Given the description of an element on the screen output the (x, y) to click on. 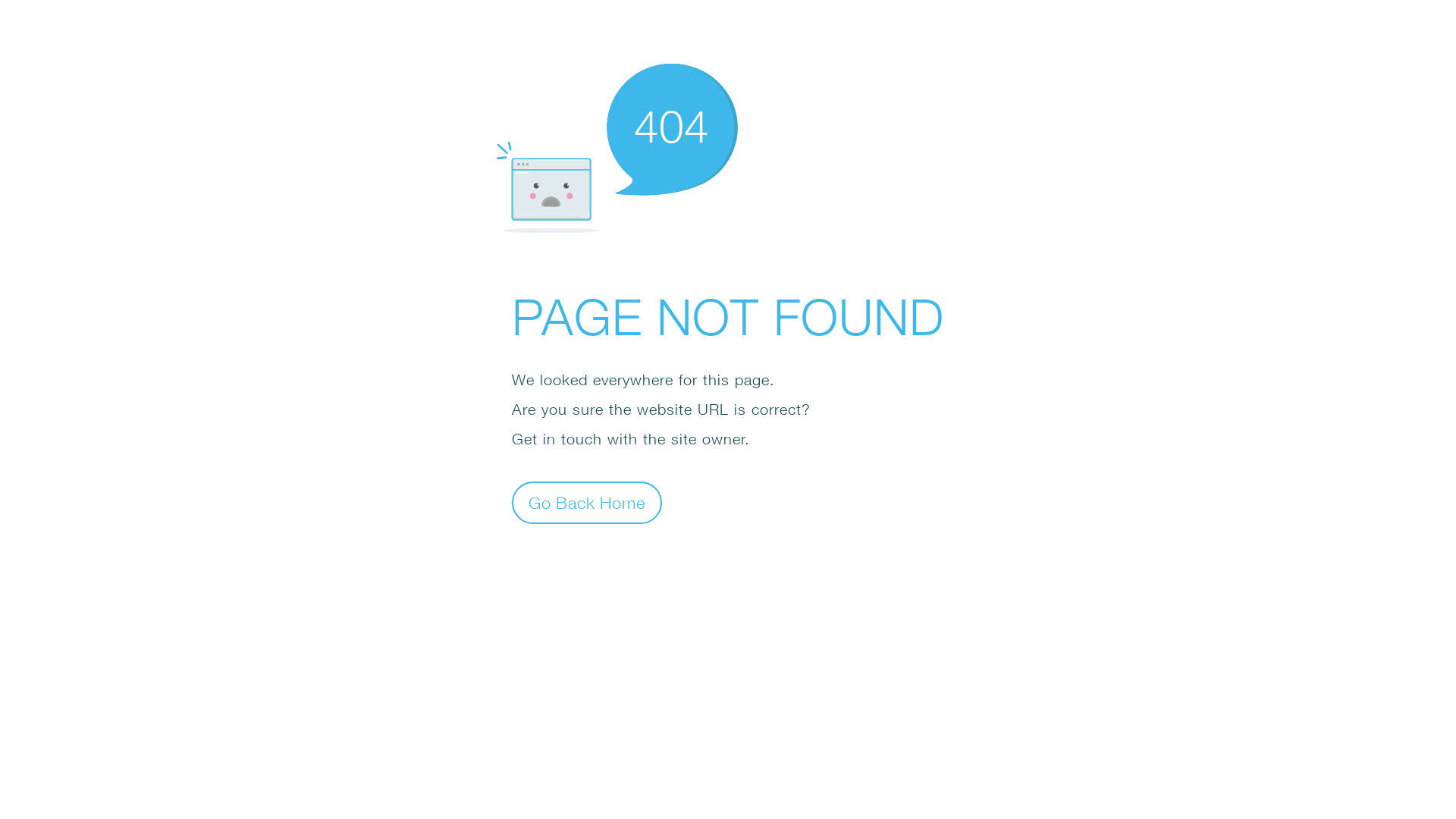
Go Back Home Element type: text (586, 502)
